Given the description of an element on the screen output the (x, y) to click on. 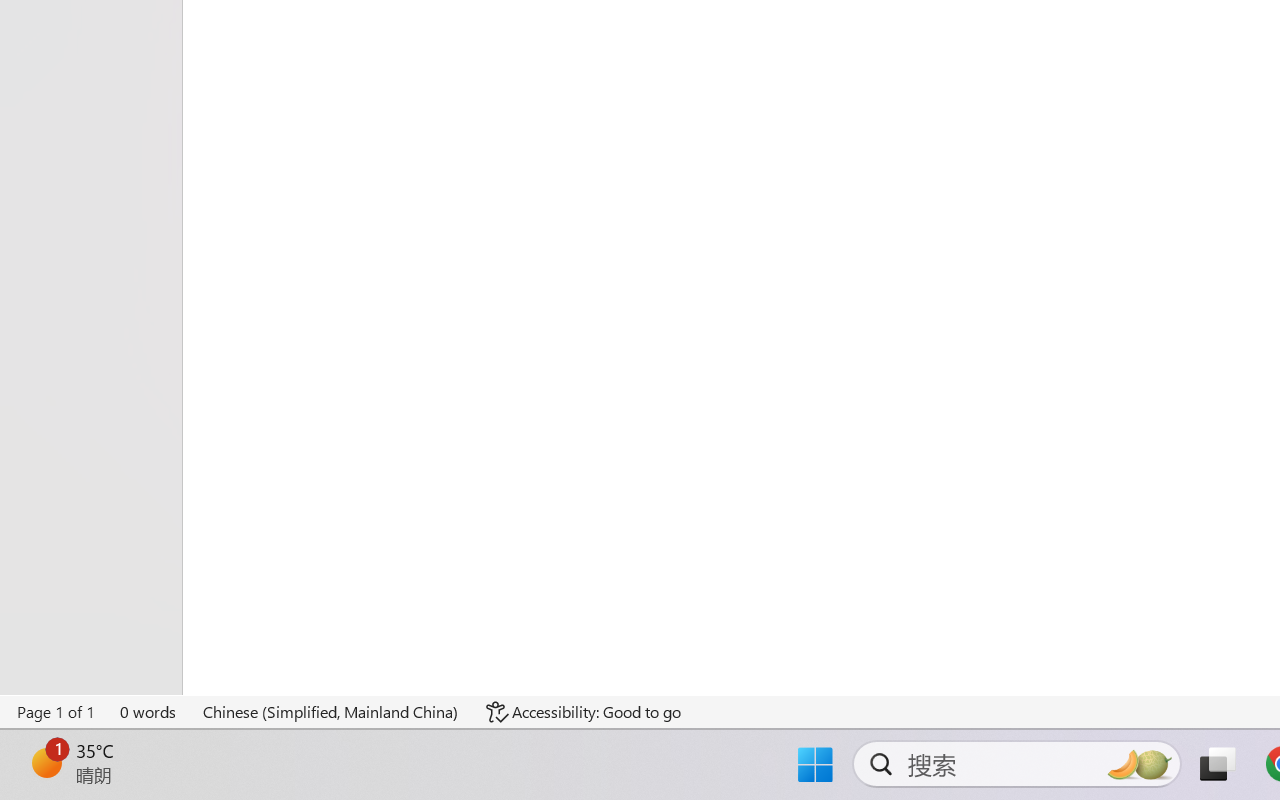
Language Chinese (Simplified, Mainland China) (331, 712)
